Given the description of an element on the screen output the (x, y) to click on. 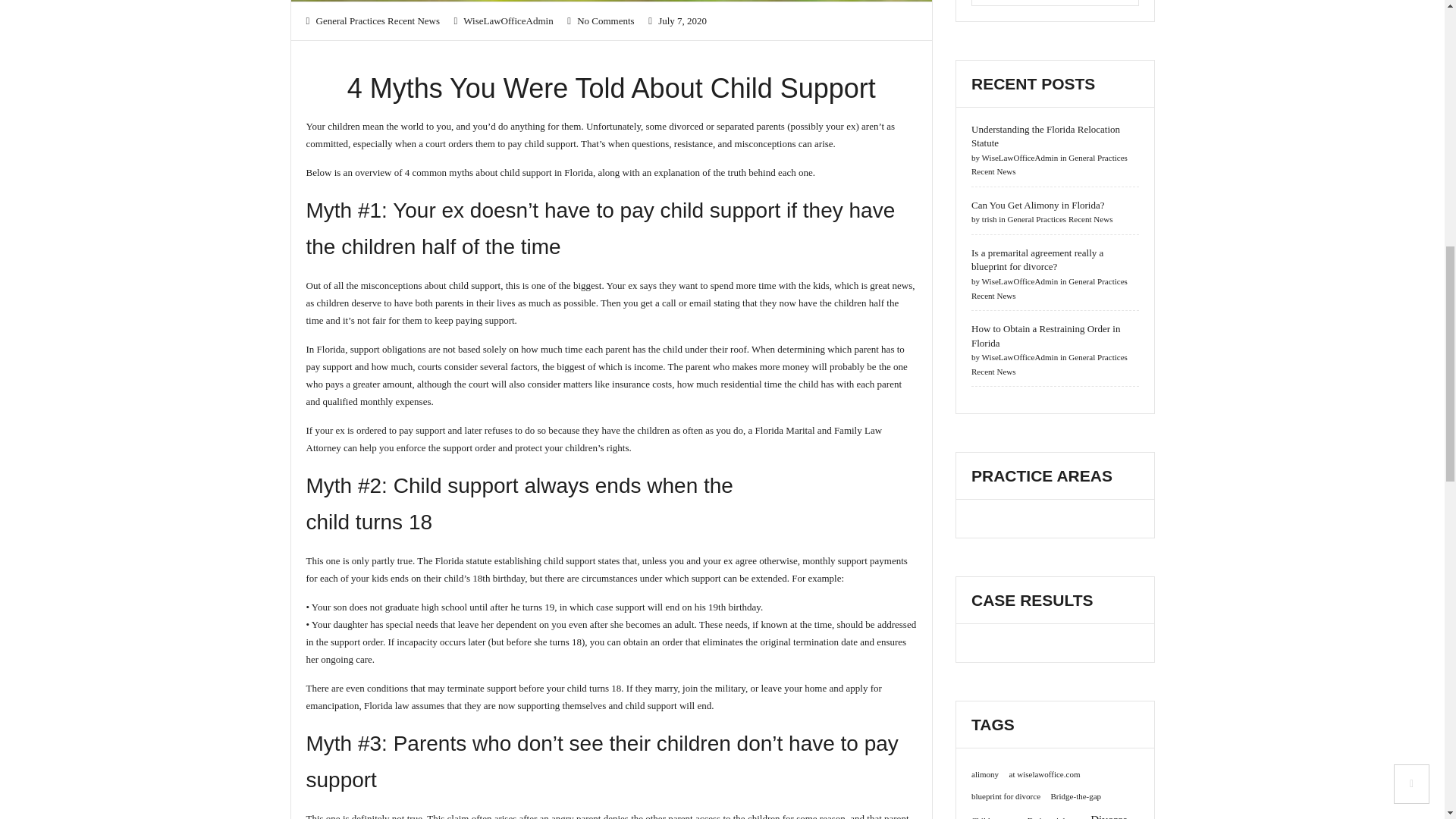
income (647, 366)
Practices (367, 20)
General (330, 20)
at wiselawoffice.com (1044, 773)
Florida statute establishing child support (515, 560)
Florida Marital and Family Law Attorney (593, 439)
alimony (984, 773)
Recent News (413, 20)
